Given the description of an element on the screen output the (x, y) to click on. 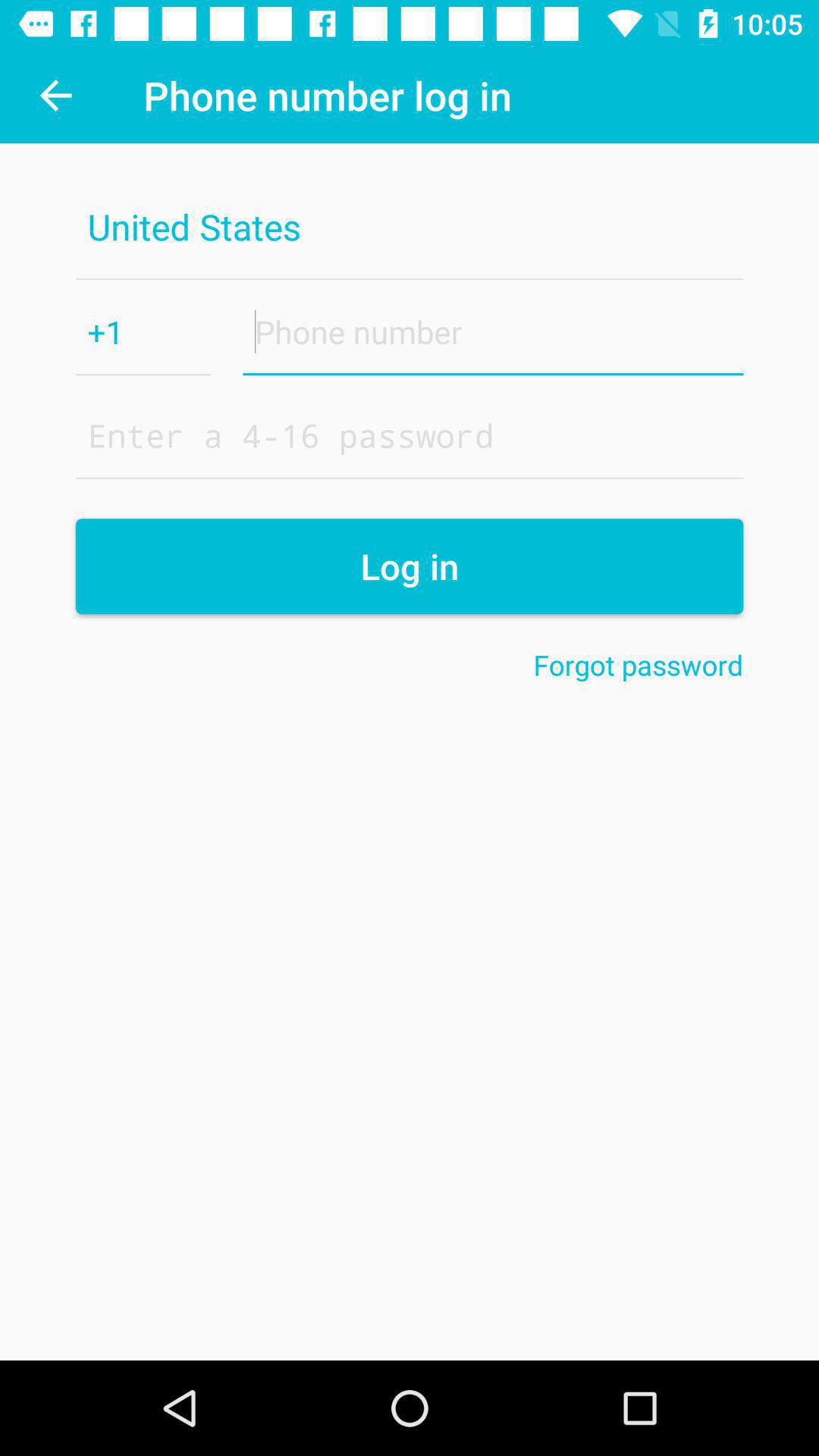
turn on icon next to the phone number log (55, 95)
